Given the description of an element on the screen output the (x, y) to click on. 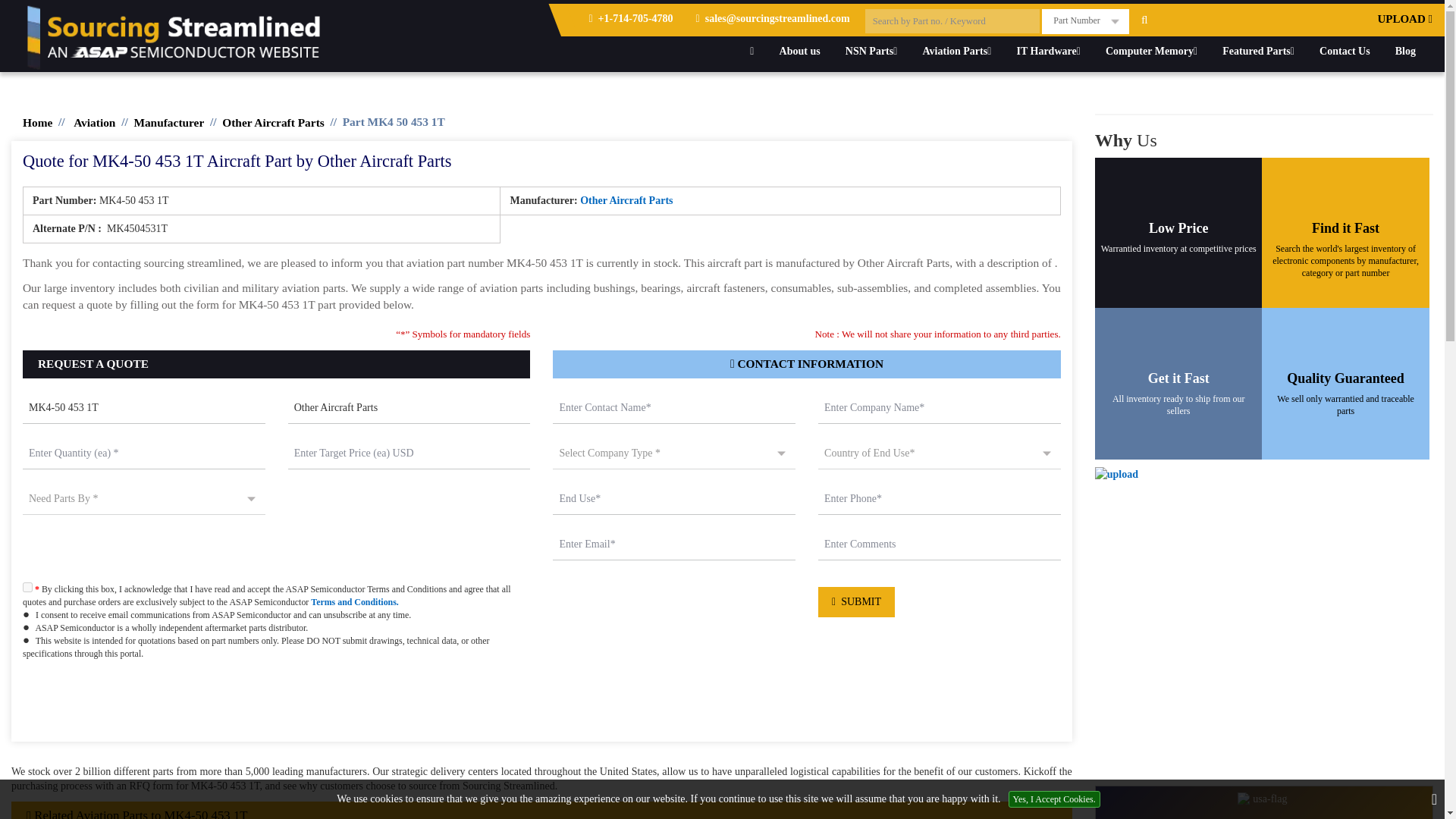
Computer Memory (1151, 51)
Aviation Parts (957, 51)
Contact Us (1344, 51)
About us (799, 51)
Featured Parts (1258, 51)
IT Hardware (1047, 51)
disclaimer (542, 706)
Other Aircraft Parts (409, 408)
NSN Parts (871, 51)
on (27, 587)
MK4-50 453 1T (143, 408)
Blog (1405, 51)
